Given the description of an element on the screen output the (x, y) to click on. 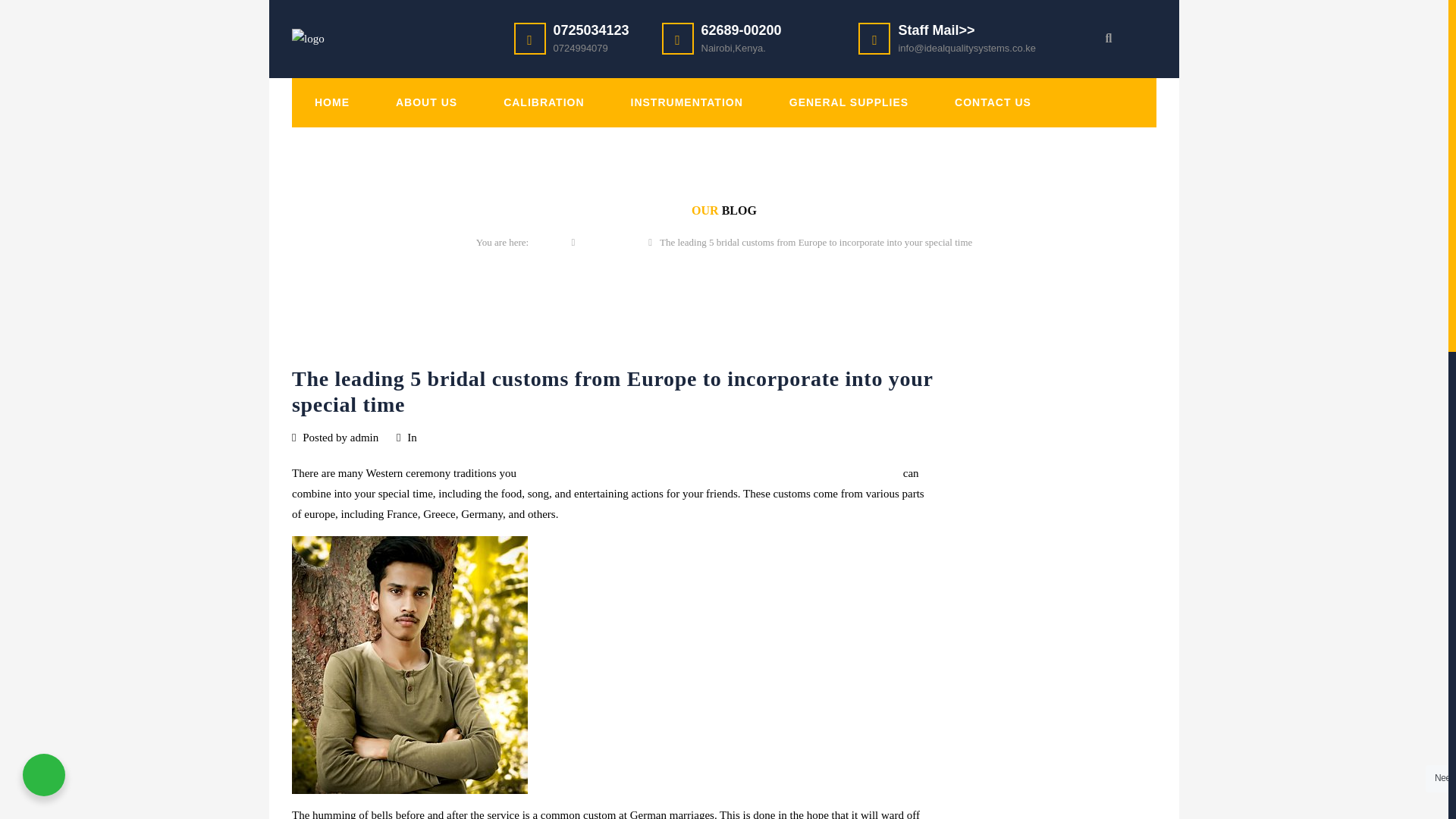
Uncategorized (454, 437)
Home (550, 242)
HOME (332, 102)
CALIBRATION (543, 102)
ABOUT US (426, 102)
INSTRUMENTATION (687, 102)
Search (41, 16)
Uncategorized (611, 242)
